Given the description of an element on the screen output the (x, y) to click on. 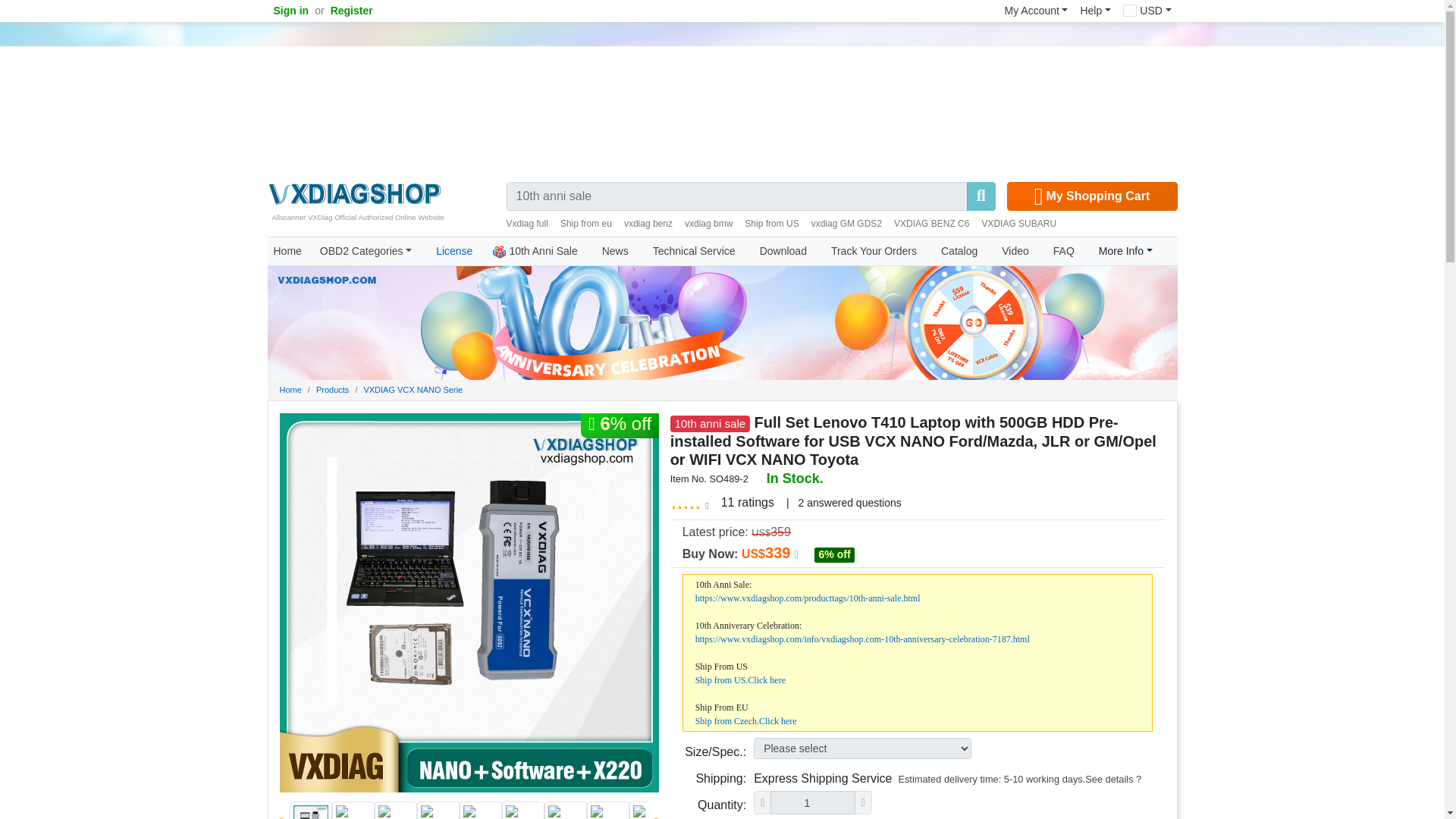
Help (1095, 11)
My Account (1036, 11)
Allscanner VXDiag Official Authorized Online Website (353, 192)
Ship from US (770, 223)
vxdiag GM GDS2 (846, 223)
vxdiag benz (648, 223)
VXDIAG BENZ C6 (931, 223)
Home (286, 251)
vxdiag bmw (708, 223)
1 (812, 802)
Vxdiag full (527, 223)
Sign in (290, 11)
OBD2 Categories (365, 251)
VXDIAG SUBARU (1019, 223)
Ship from eu (585, 223)
